Given the description of an element on the screen output the (x, y) to click on. 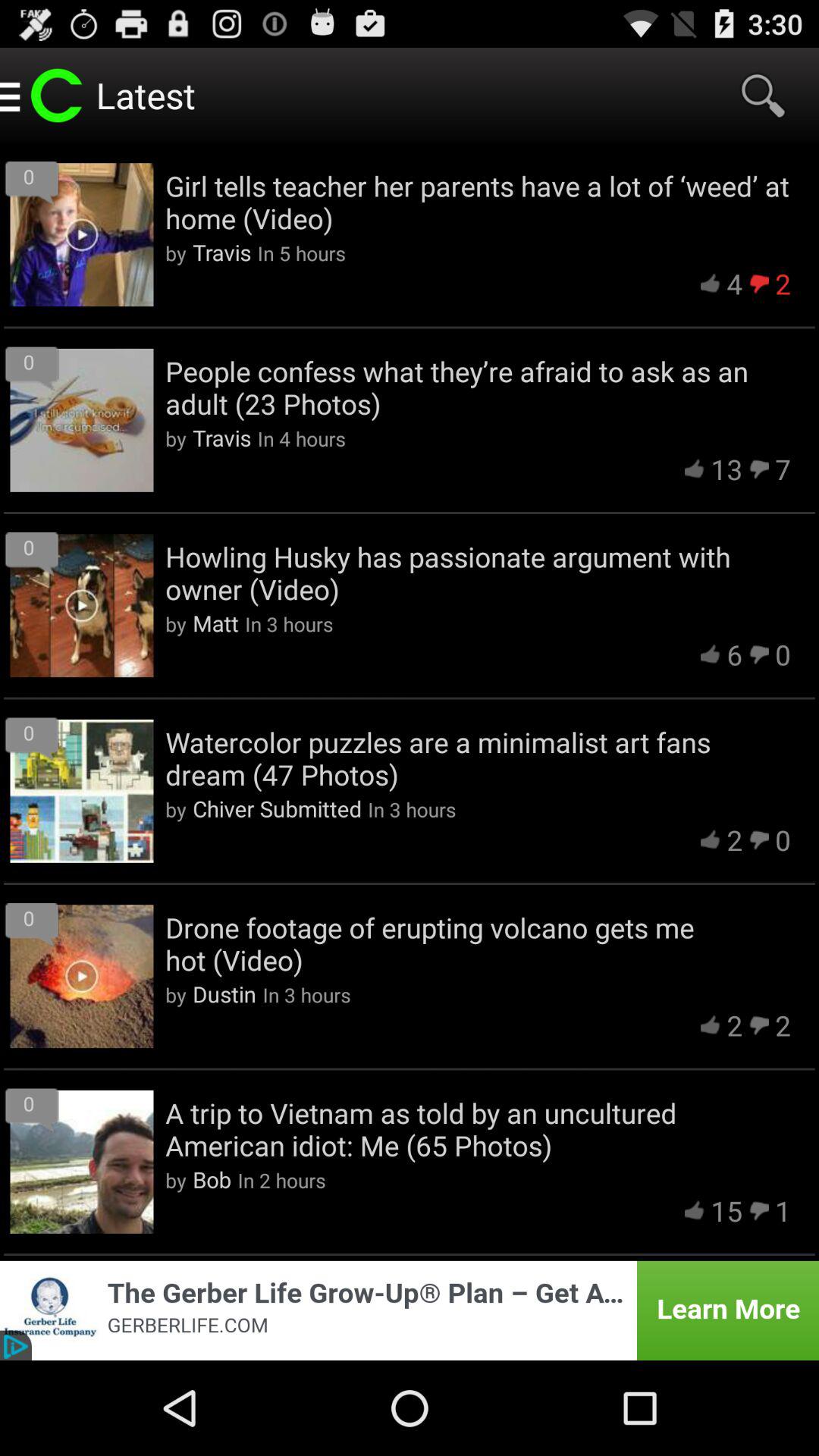
jump to 1 (783, 1210)
